Given the description of an element on the screen output the (x, y) to click on. 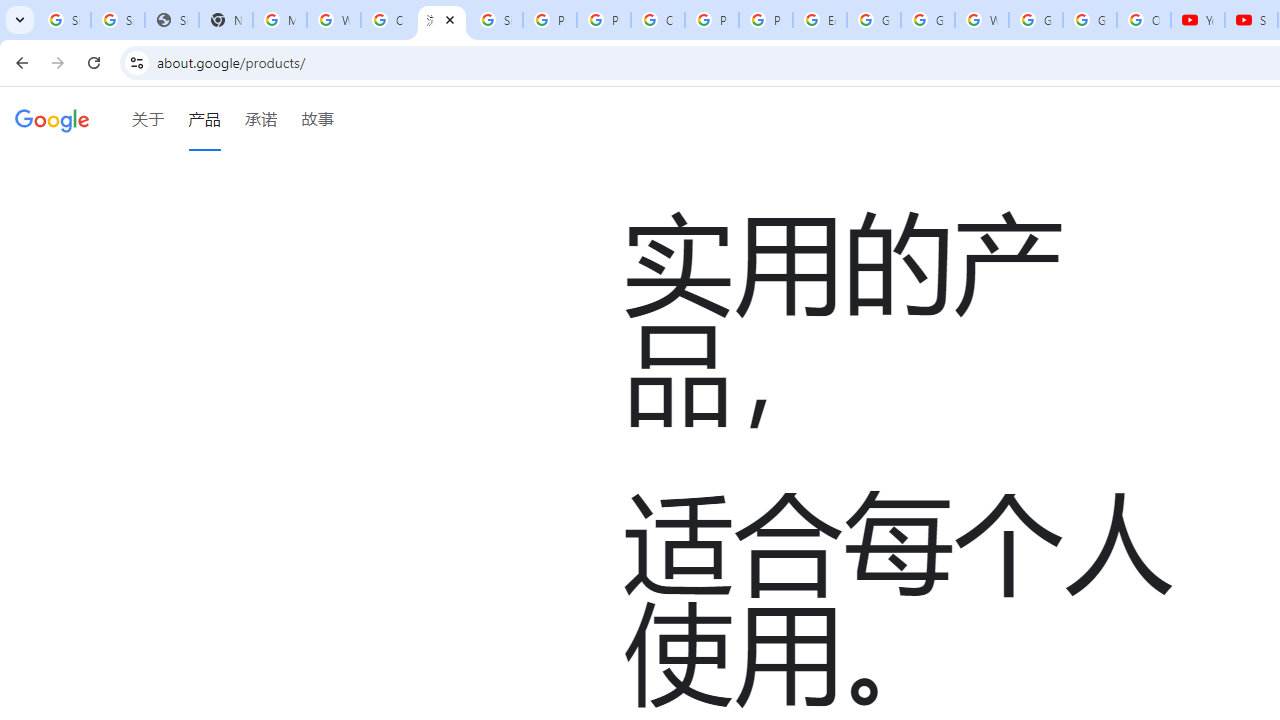
Google Account (1089, 20)
Edit and view right-to-left text - Google Docs Editors Help (819, 20)
Who is my administrator? - Google Account Help (333, 20)
Sign in - Google Accounts (63, 20)
Create your Google Account (657, 20)
YouTube (1197, 20)
